Given the description of an element on the screen output the (x, y) to click on. 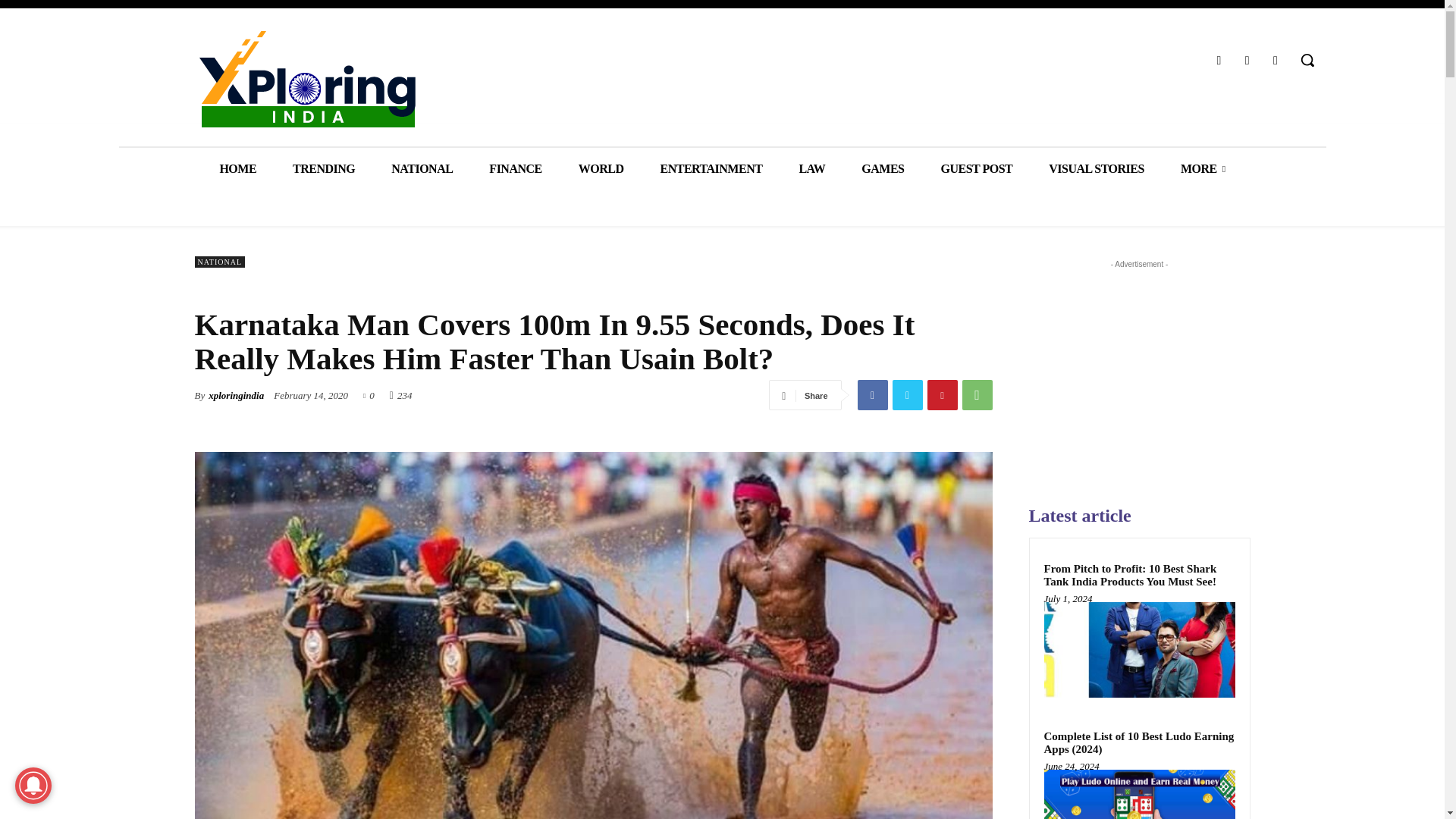
LAW (811, 168)
TRENDING (323, 168)
VISUAL STORIES (1095, 168)
Twitter (1246, 59)
ENTERTAINMENT (711, 168)
WhatsApp (975, 395)
Facebook (871, 395)
HOME (237, 168)
Pinterest (941, 395)
GUEST POST (975, 168)
NATIONAL (421, 168)
Facebook (1218, 59)
WORLD (601, 168)
Twitter (906, 395)
